Given the description of an element on the screen output the (x, y) to click on. 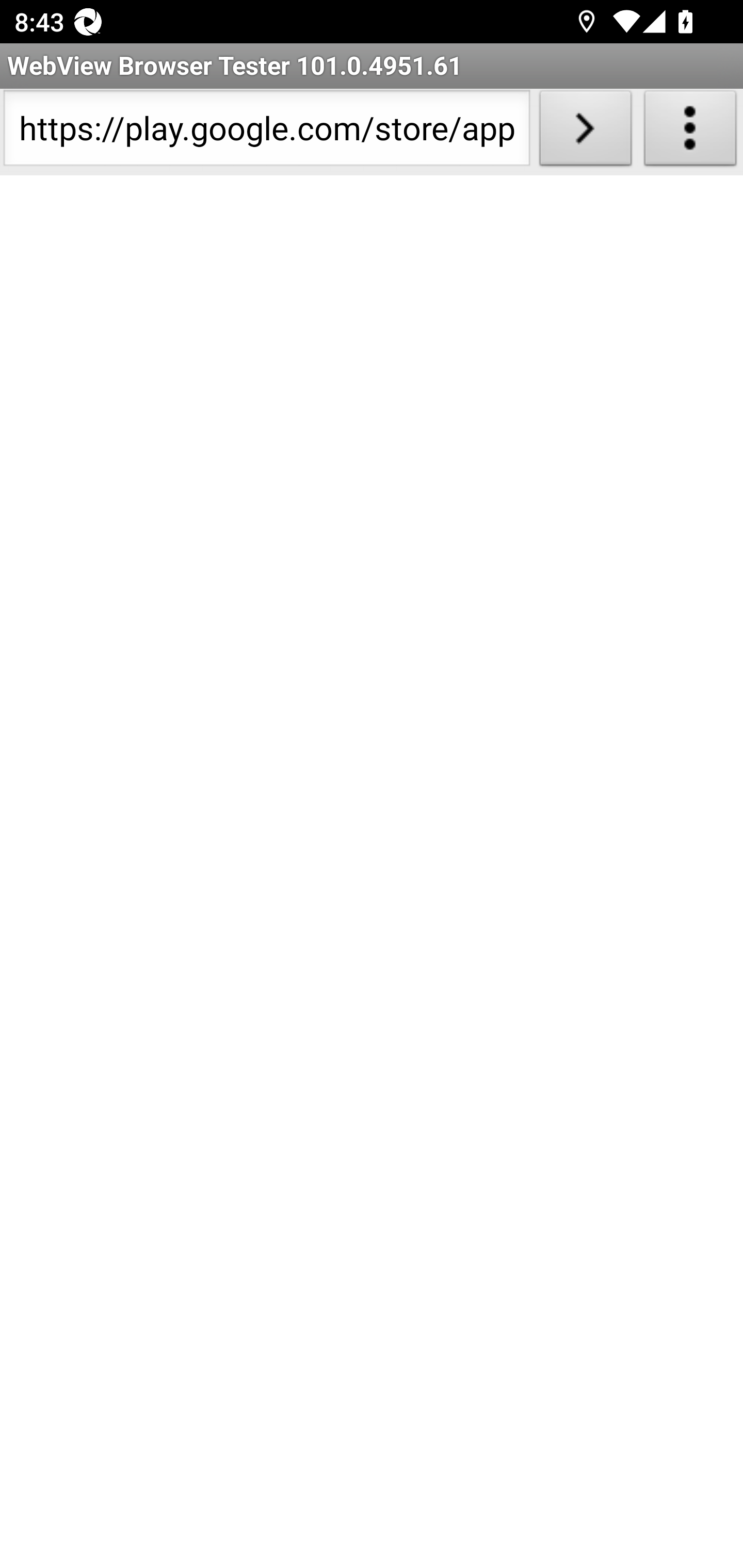
Load URL (585, 132)
About WebView (690, 132)
